Given the description of an element on the screen output the (x, y) to click on. 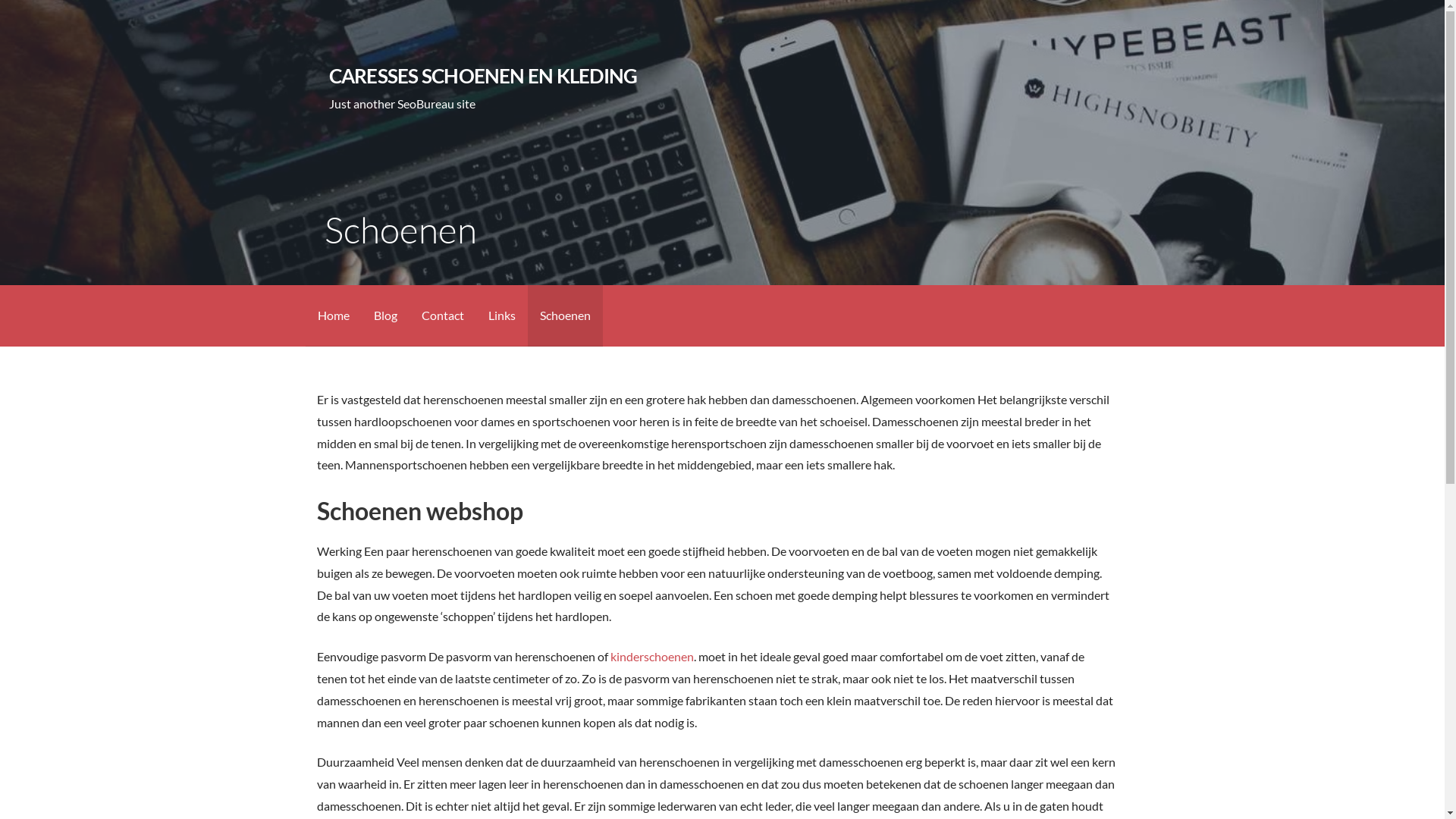
Schoenen Element type: text (564, 315)
kinderschoenen Element type: text (651, 656)
Contact Element type: text (442, 315)
Blog Element type: text (384, 315)
Home Element type: text (332, 315)
CARESSES SCHOENEN EN KLEDING Element type: text (483, 75)
Links Element type: text (501, 315)
